Given the description of an element on the screen output the (x, y) to click on. 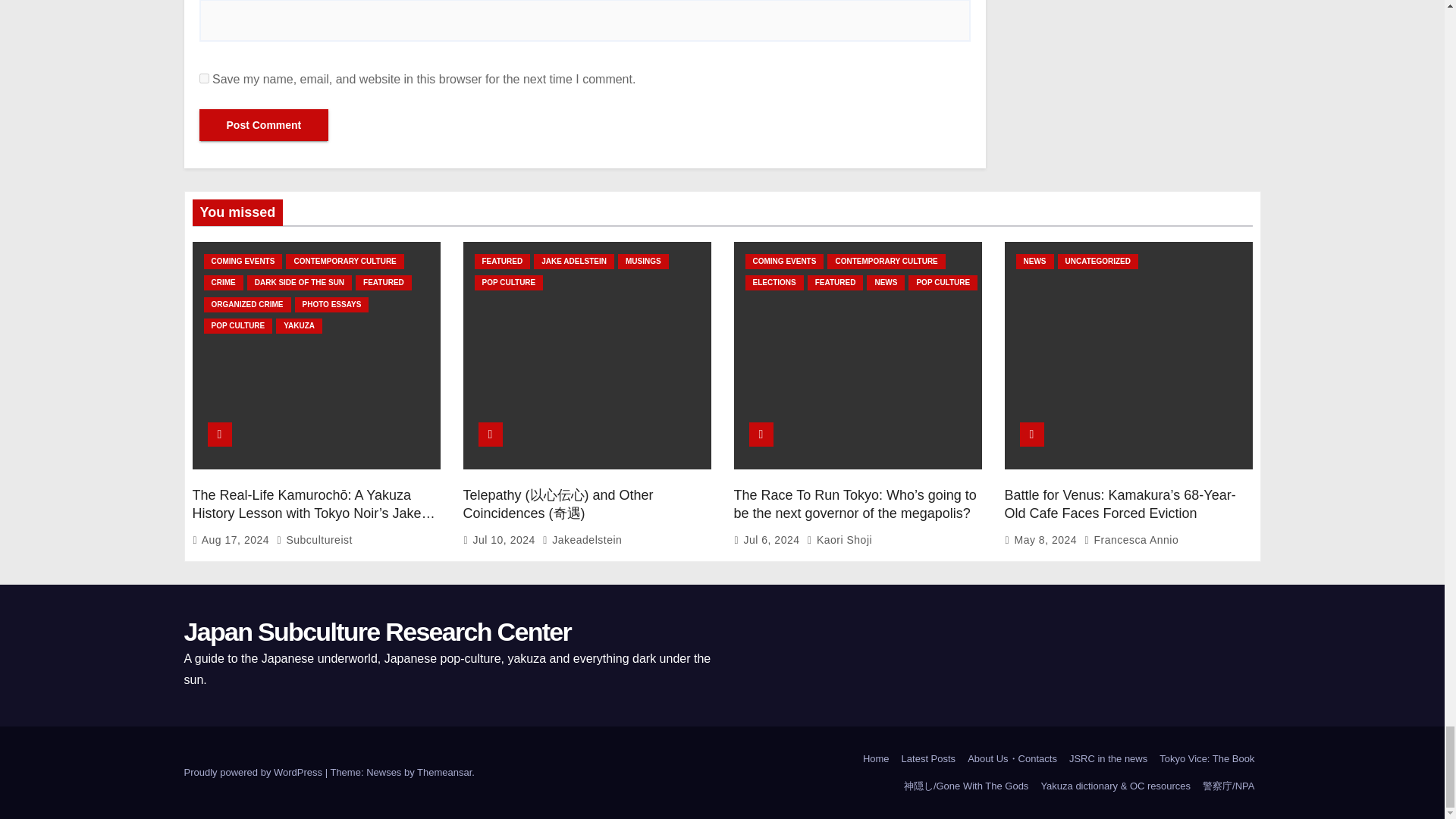
Post Comment (263, 124)
Home (876, 759)
yes (203, 78)
